Given the description of an element on the screen output the (x, y) to click on. 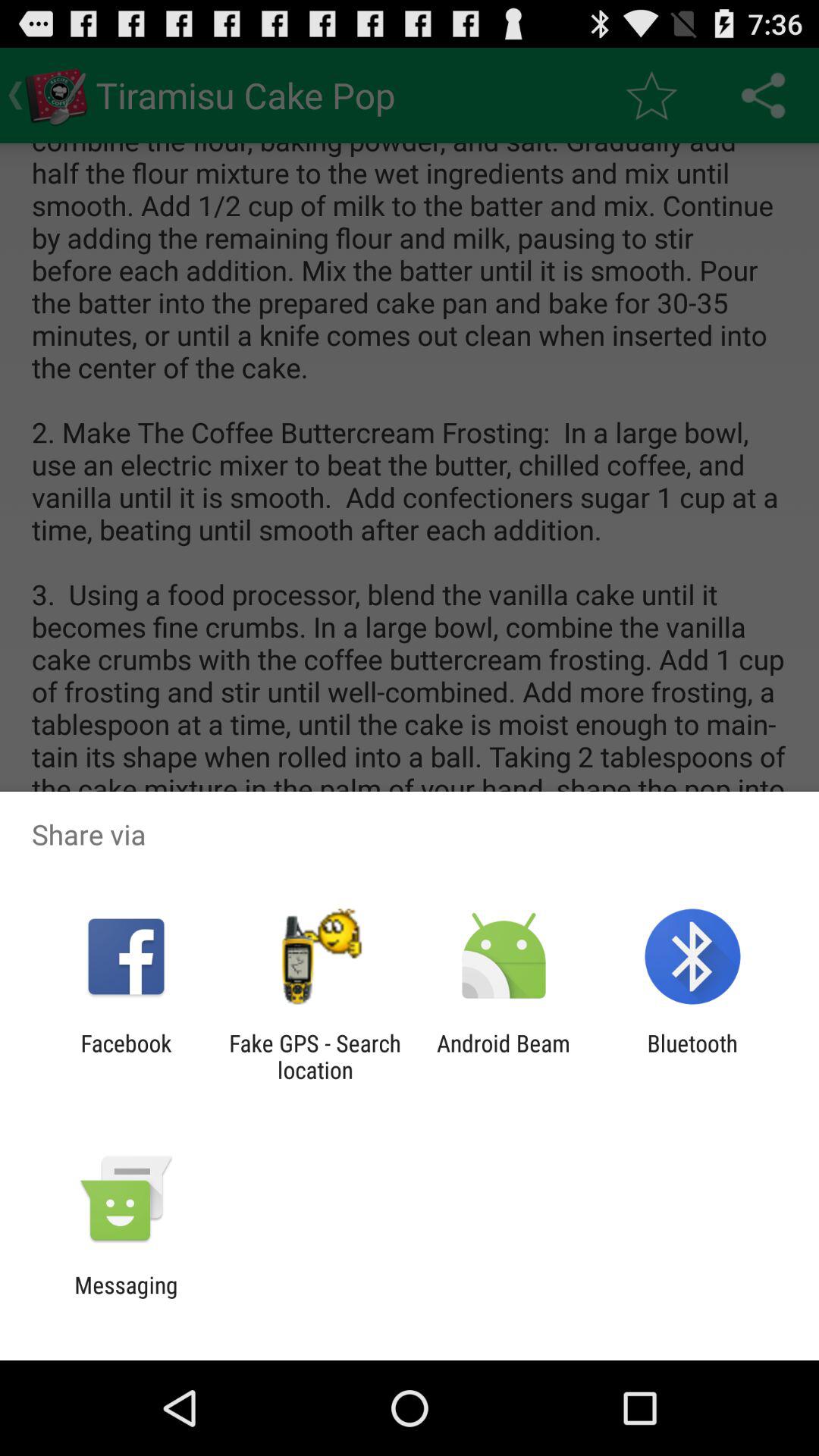
turn on icon next to fake gps search app (503, 1056)
